Given the description of an element on the screen output the (x, y) to click on. 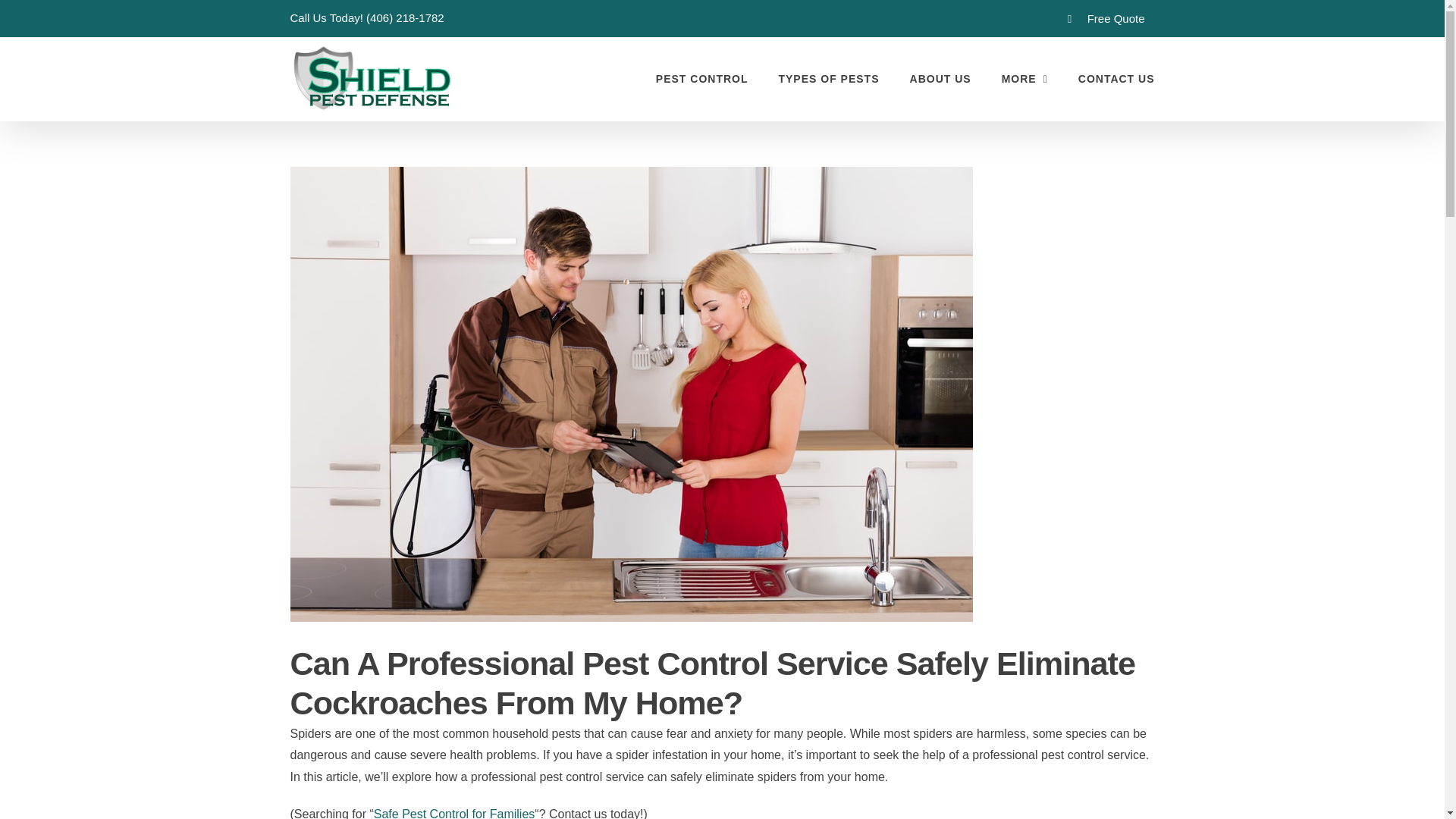
CONTACT US (1116, 78)
Free Quote (1106, 18)
TYPES OF PESTS (828, 78)
PEST CONTROL (702, 78)
Safe Pest Control for Families (454, 813)
